Given the description of an element on the screen output the (x, y) to click on. 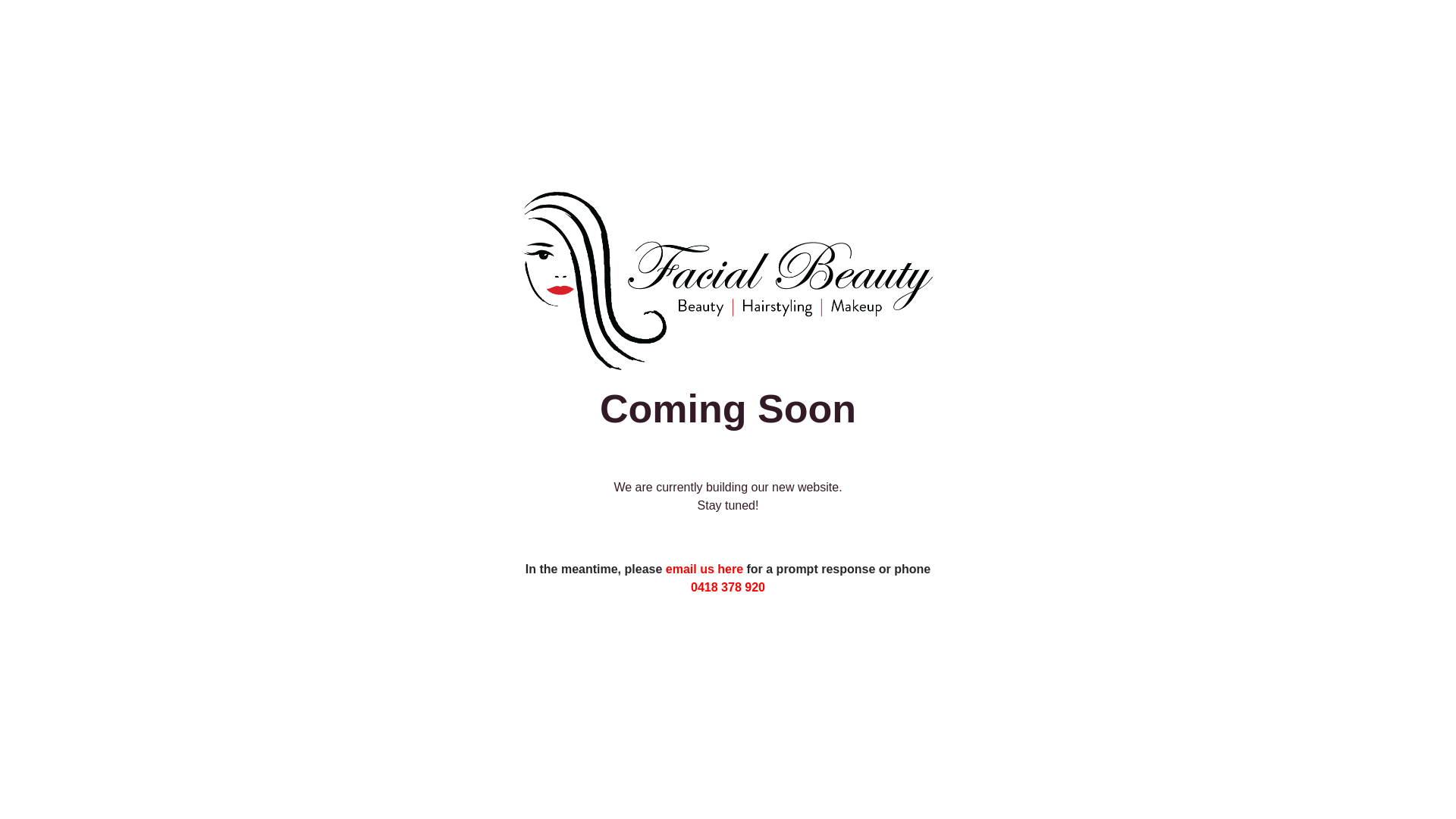
0418 378 920 Element type: text (727, 586)
email us here Element type: text (704, 568)
